Given the description of an element on the screen output the (x, y) to click on. 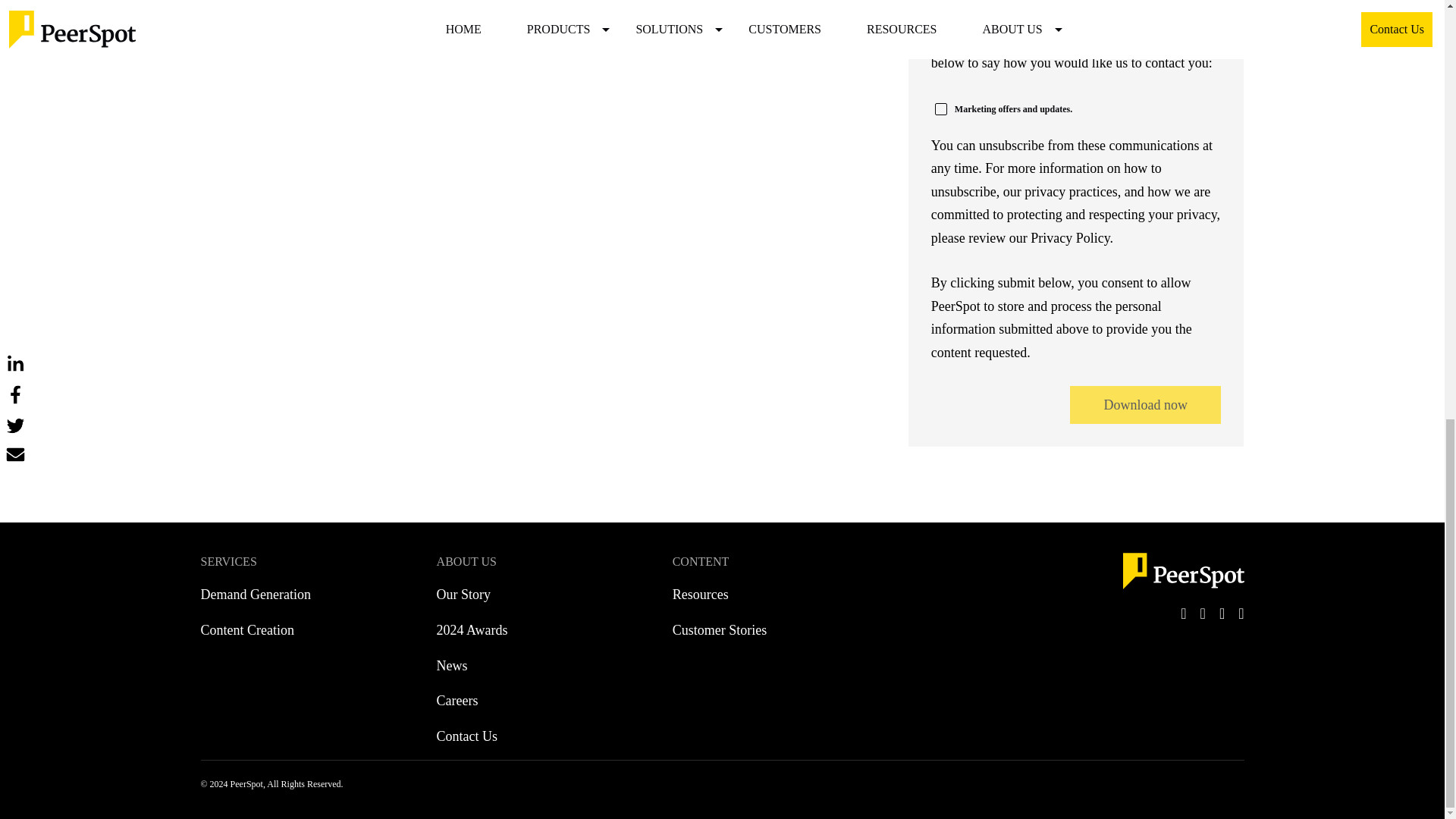
Content Creation (247, 630)
2024 Awards (472, 630)
Our Story (464, 594)
Download now (1145, 404)
Careers (457, 701)
Download now (1145, 404)
Contact Us (466, 736)
Demand Generation (255, 594)
